Given the description of an element on the screen output the (x, y) to click on. 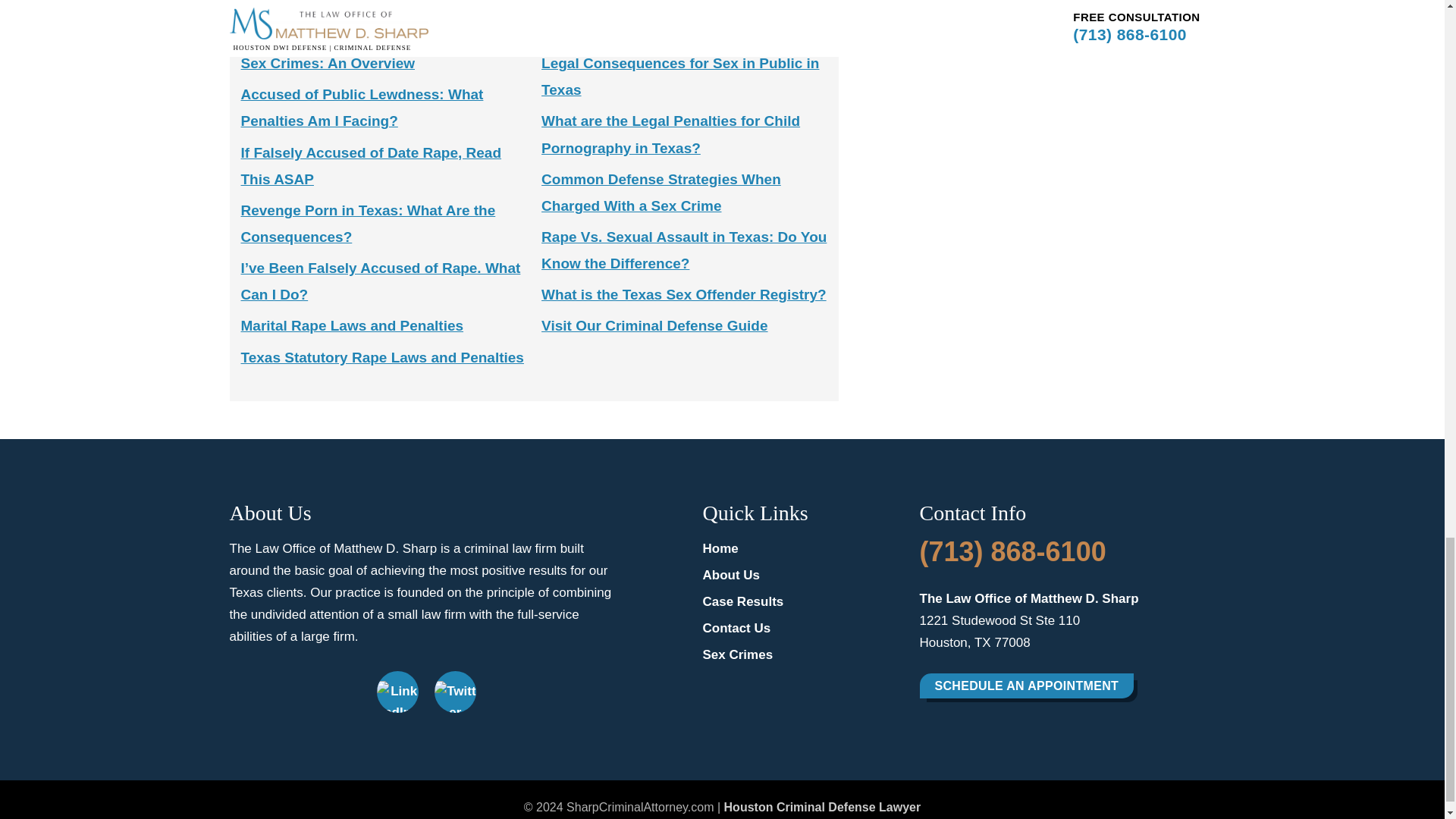
Sex Crimes: An Overview (327, 63)
Accused of Public Lewdness: What Penalties Am I Facing? (362, 107)
